Given the description of an element on the screen output the (x, y) to click on. 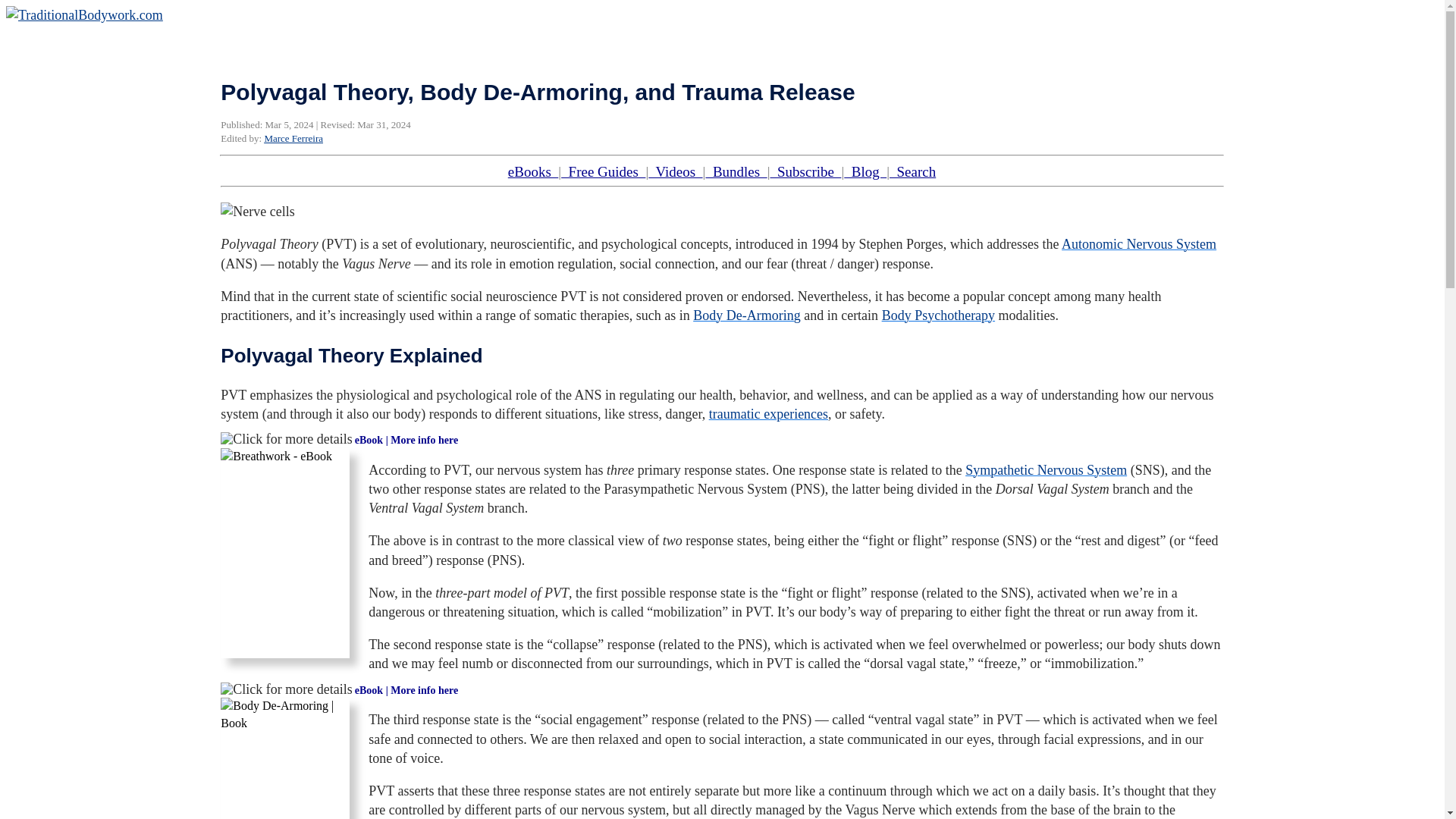
  Search (912, 171)
  Subscribe   (805, 171)
Body De-Armoring (746, 314)
Polyvagal Theory, Body De-Armouring, and Trauma Release (257, 211)
Body Psychotherapy (938, 314)
  Videos   (674, 171)
traumatic experiences (768, 413)
  Bundles   (735, 171)
  Blog   (865, 171)
Marce Ferreira (293, 138)
Autonomic Nervous System (1138, 243)
  Free Guides   (602, 171)
Click for more details (286, 689)
Click for more details (286, 439)
eBooks   (533, 171)
